Given the description of an element on the screen output the (x, y) to click on. 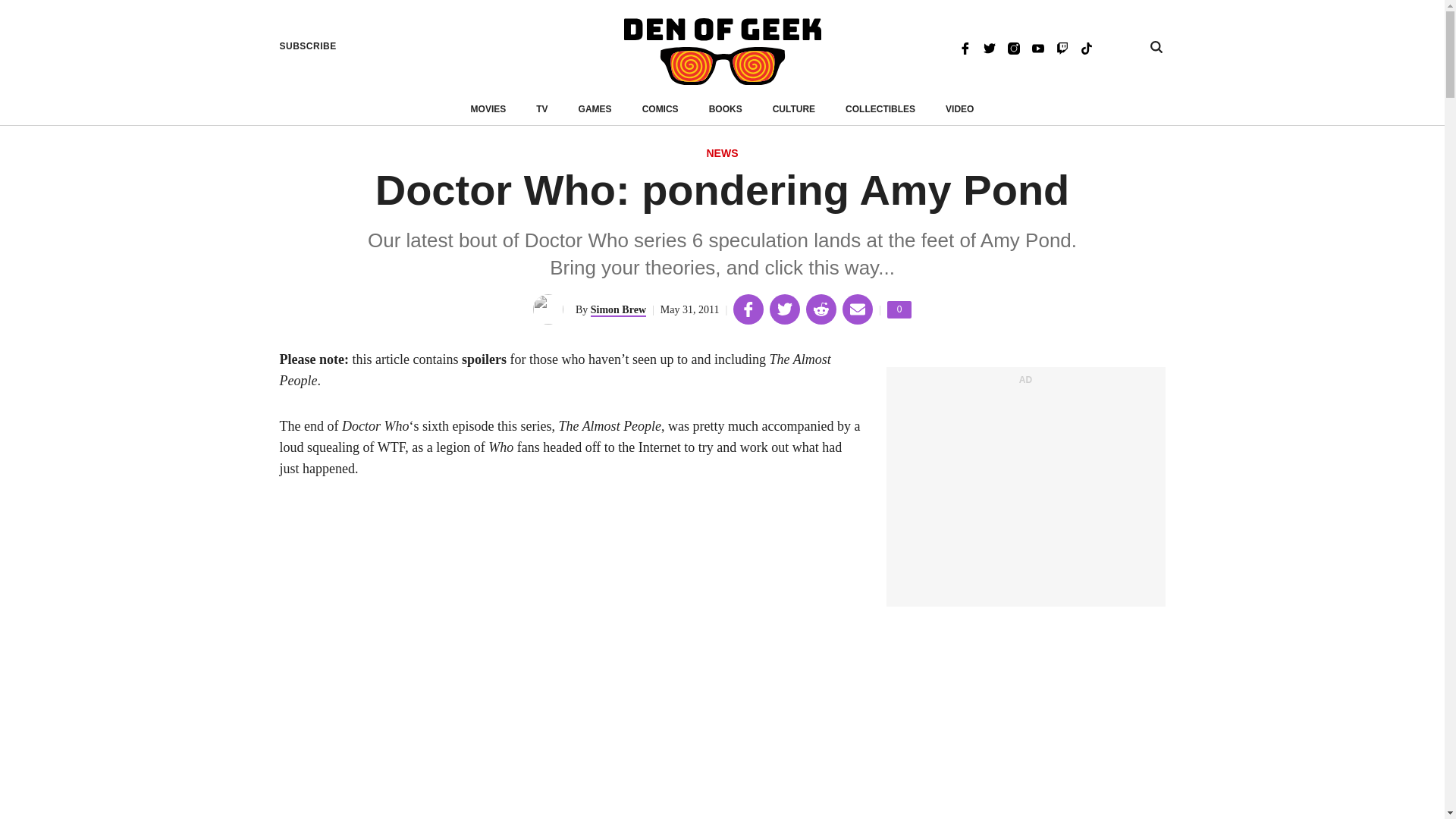
BOOKS (725, 109)
TikTok (1085, 46)
SUBSCRIBE (307, 46)
GAMES (594, 109)
Instagram (898, 309)
CULTURE (1013, 46)
VIDEO (794, 109)
COLLECTIBLES (959, 109)
Twitter (880, 109)
